Given the description of an element on the screen output the (x, y) to click on. 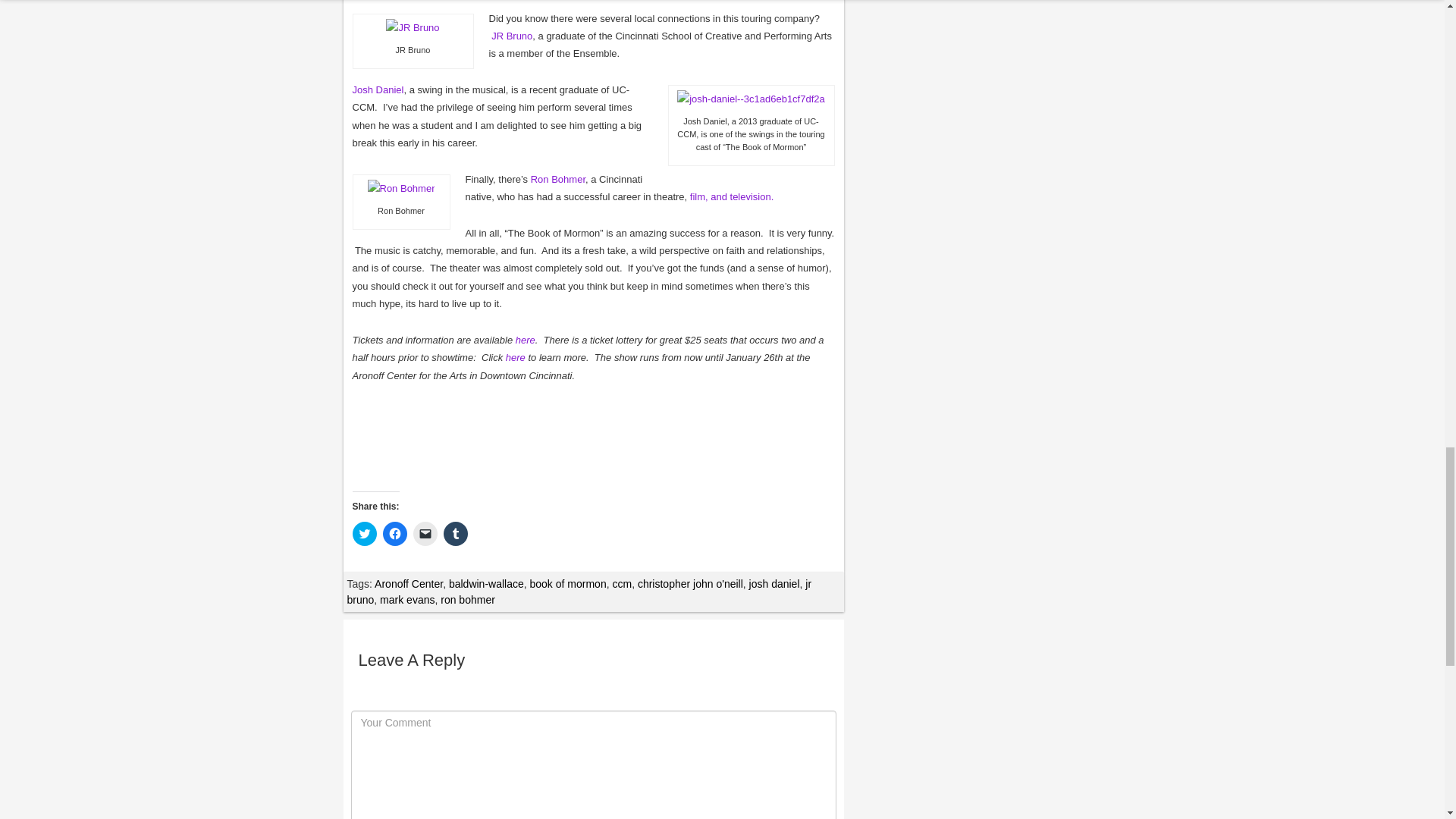
Click to email a link to a friend (424, 533)
Click to share on Tumblr (454, 533)
Click to share on Facebook (393, 533)
Click to share on Twitter (363, 533)
